Given the description of an element on the screen output the (x, y) to click on. 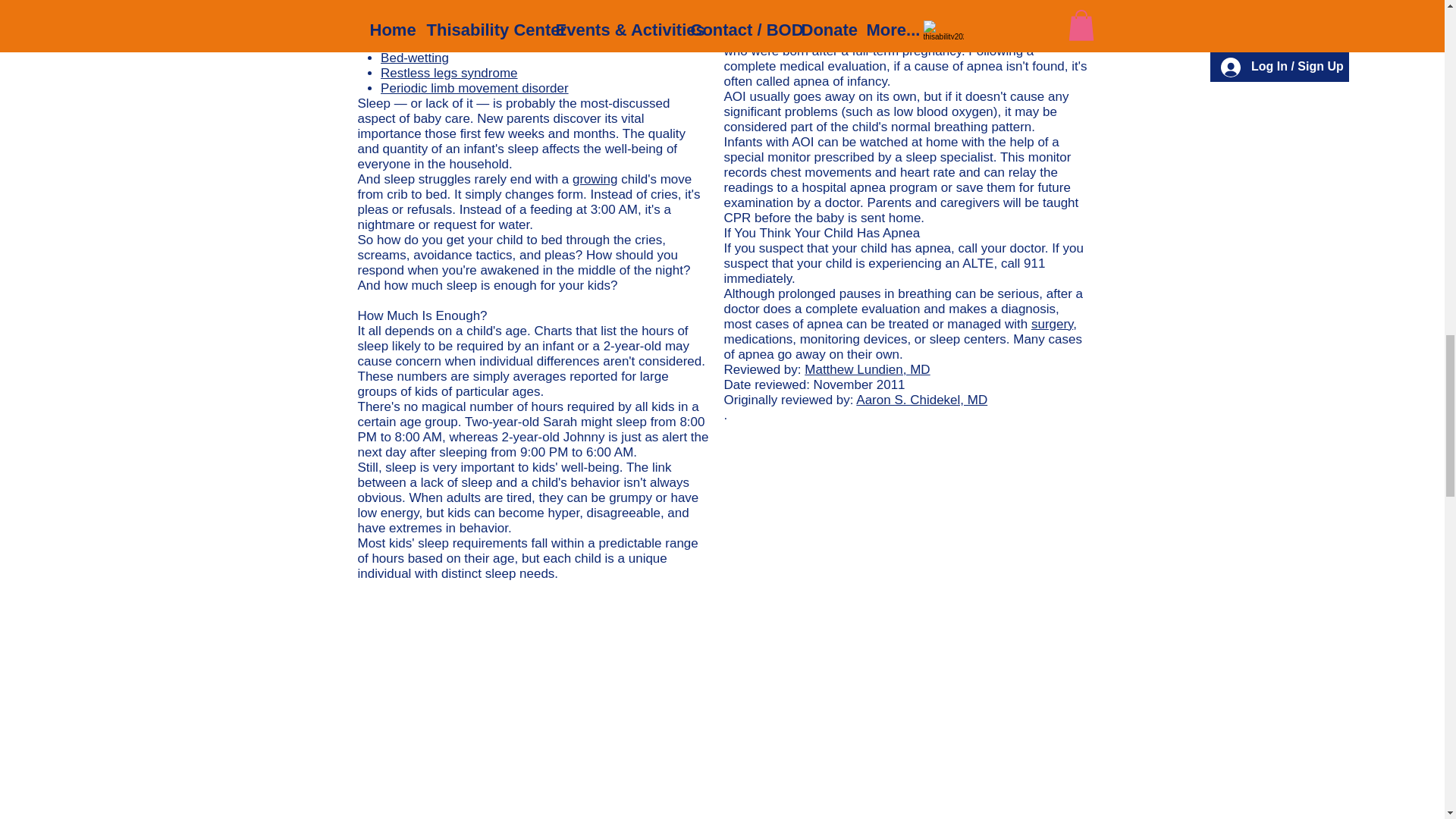
Bed-wetting (414, 57)
Restless legs syndrome (448, 73)
Head banging (420, 27)
Periodic limb movement disorder (474, 88)
growing (594, 178)
Sleep terrors (417, 11)
Night time awakenings (445, 2)
Snoring (402, 42)
